Given the description of an element on the screen output the (x, y) to click on. 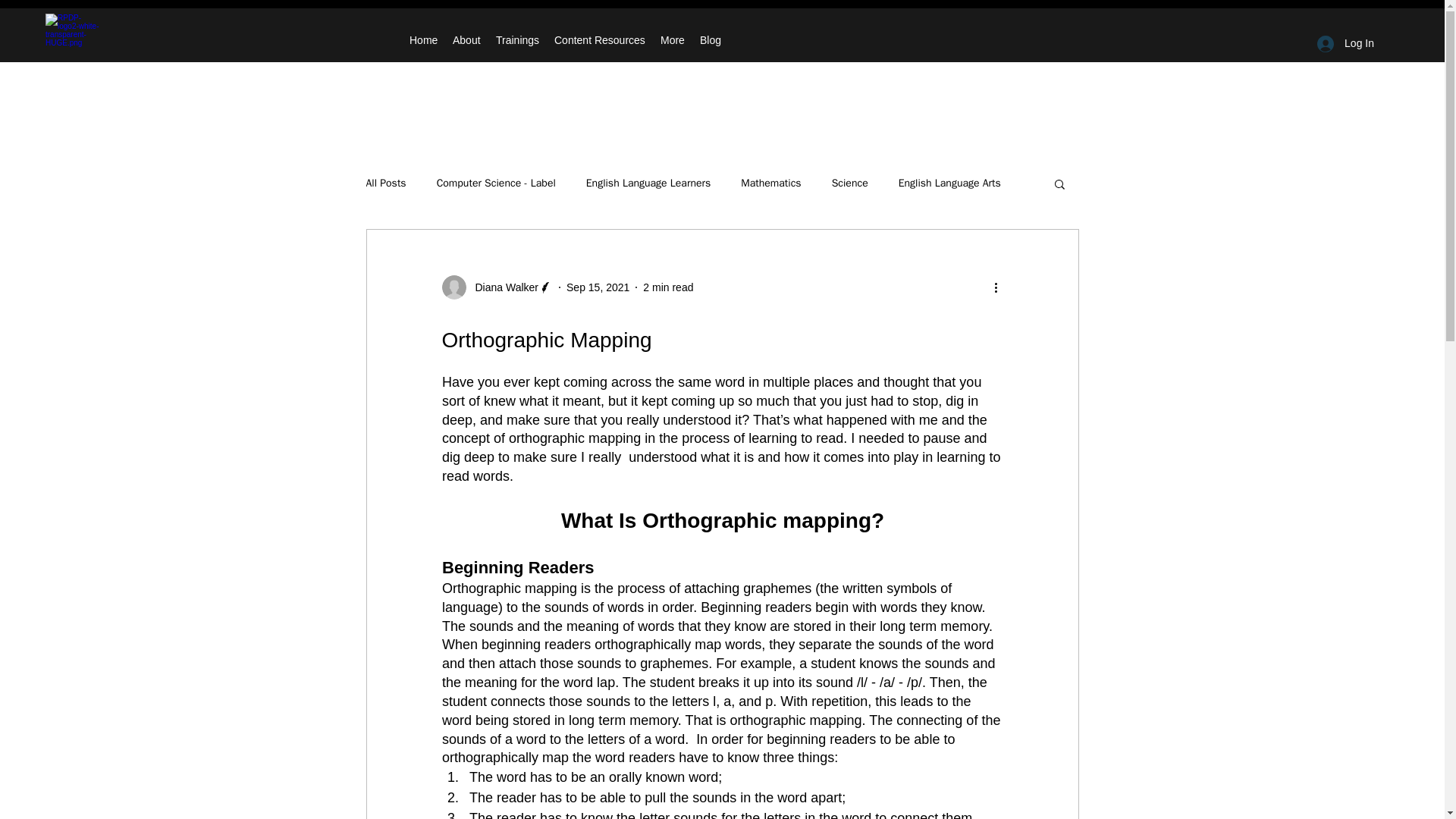
All Posts (385, 183)
Home (423, 39)
Sep 15, 2021 (597, 286)
English Language Learners (648, 183)
Content Resources (599, 39)
English Language Arts (949, 183)
2 min read (668, 286)
Blog (711, 39)
Science (849, 183)
Trainings (517, 39)
